Given the description of an element on the screen output the (x, y) to click on. 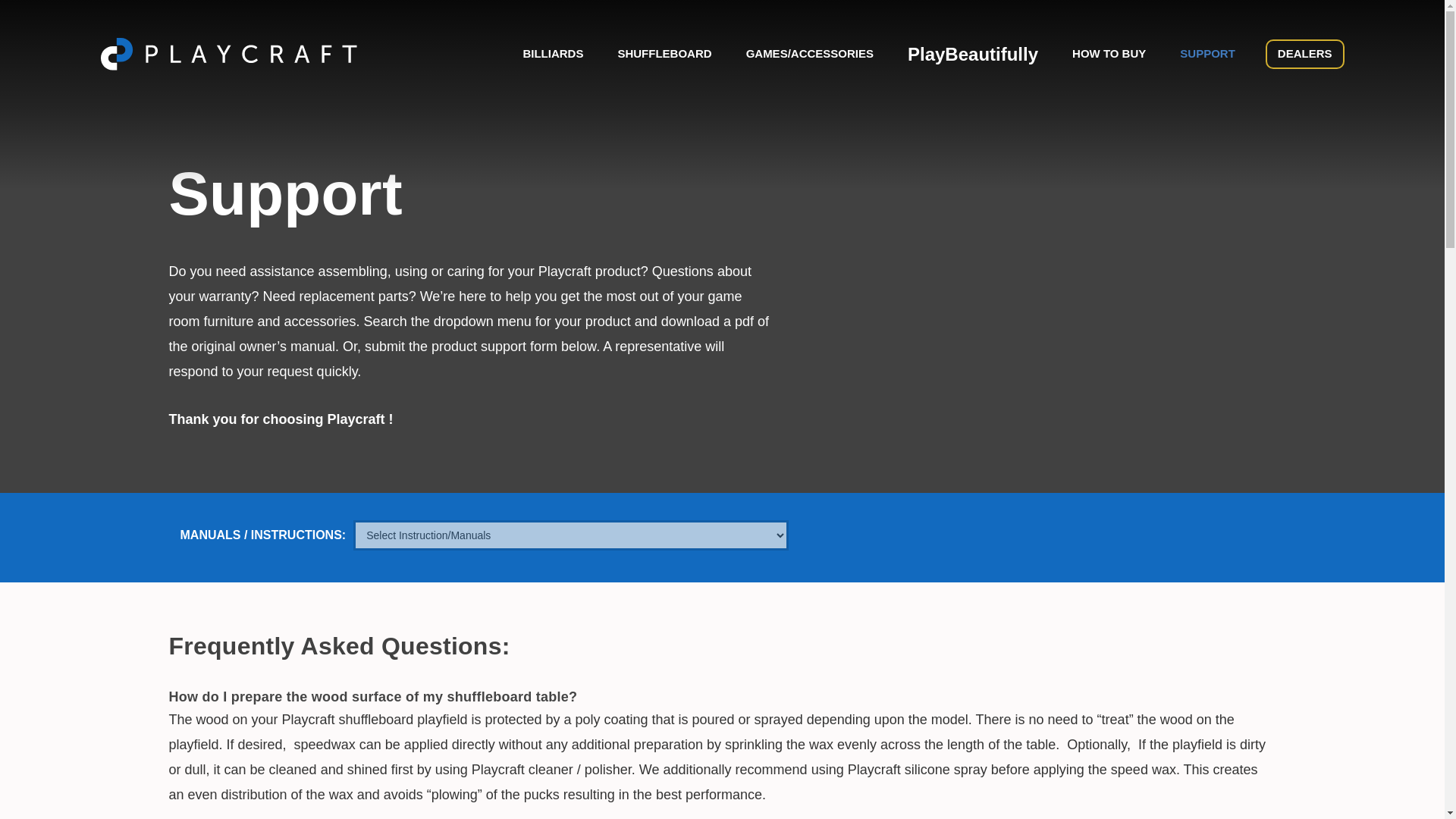
DEALERS (1304, 53)
HOW TO BUY (1108, 54)
PlayBeautifully (972, 53)
Playcraft (228, 53)
SUPPORT (1206, 54)
BILLIARDS (552, 54)
SHUFFLEBOARD (664, 54)
